Given the description of an element on the screen output the (x, y) to click on. 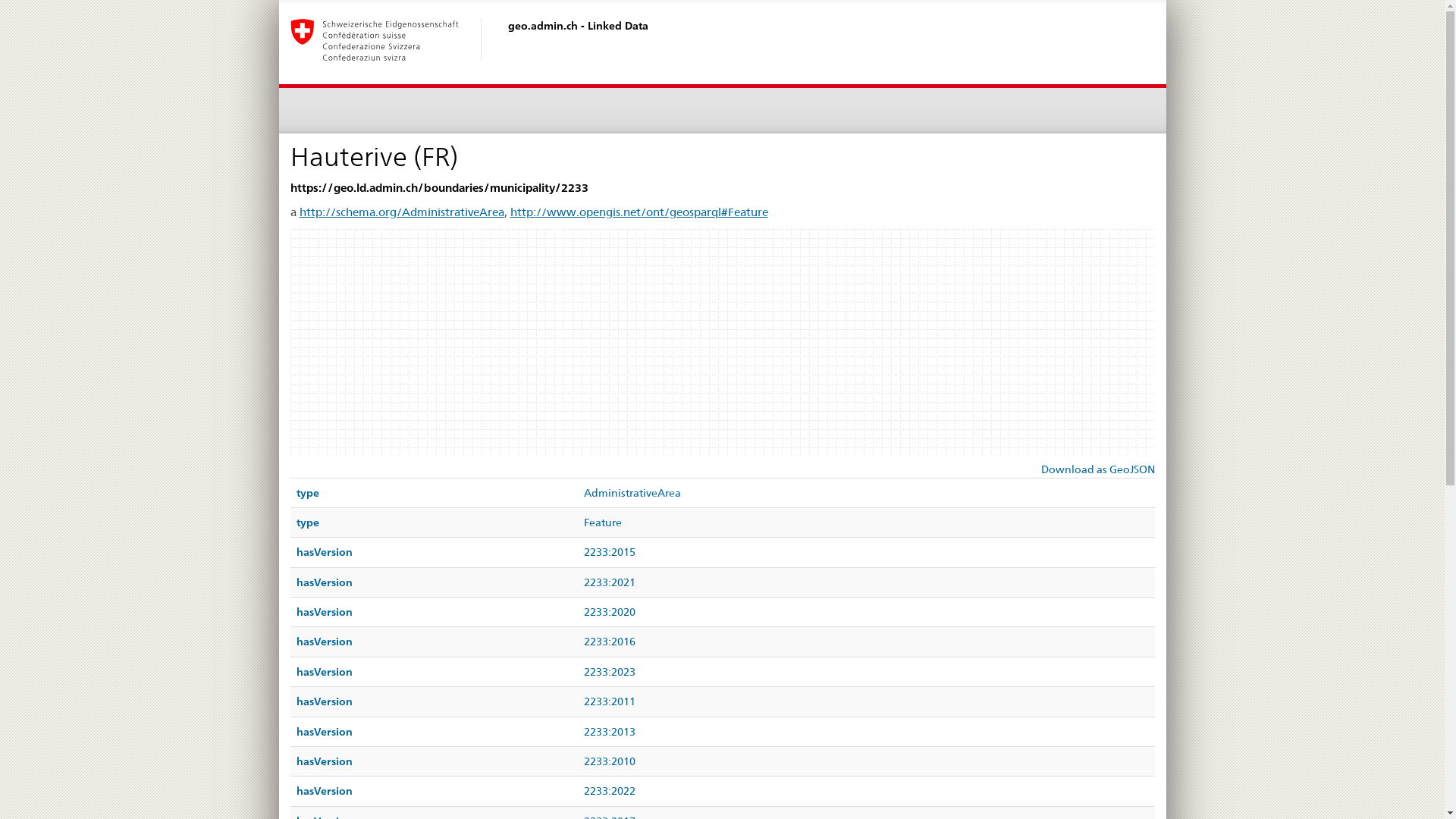
hasVersion Element type: text (323, 552)
2233:2015 Element type: text (609, 552)
hasVersion Element type: text (323, 611)
2233:2013 Element type: text (609, 731)
http://schema.org/AdministrativeArea Element type: text (400, 211)
type Element type: text (306, 522)
hasVersion Element type: text (323, 582)
type Element type: text (306, 492)
Download as GeoJSON Element type: text (1097, 468)
2233:2016 Element type: text (609, 641)
2233:2011 Element type: text (609, 701)
hasVersion Element type: text (323, 641)
hasVersion Element type: text (323, 701)
2233:2020 Element type: text (609, 611)
hasVersion Element type: text (323, 671)
2233:2022 Element type: text (609, 790)
http://www.opengis.net/ont/geosparql#Feature Element type: text (638, 211)
Feature Element type: text (602, 522)
hasVersion Element type: text (323, 761)
hasVersion Element type: text (323, 731)
hasVersion Element type: text (323, 790)
2233:2023 Element type: text (609, 671)
AdministrativeArea Element type: text (631, 492)
2233:2021 Element type: text (609, 582)
2233:2010 Element type: text (609, 761)
